Given the description of an element on the screen output the (x, y) to click on. 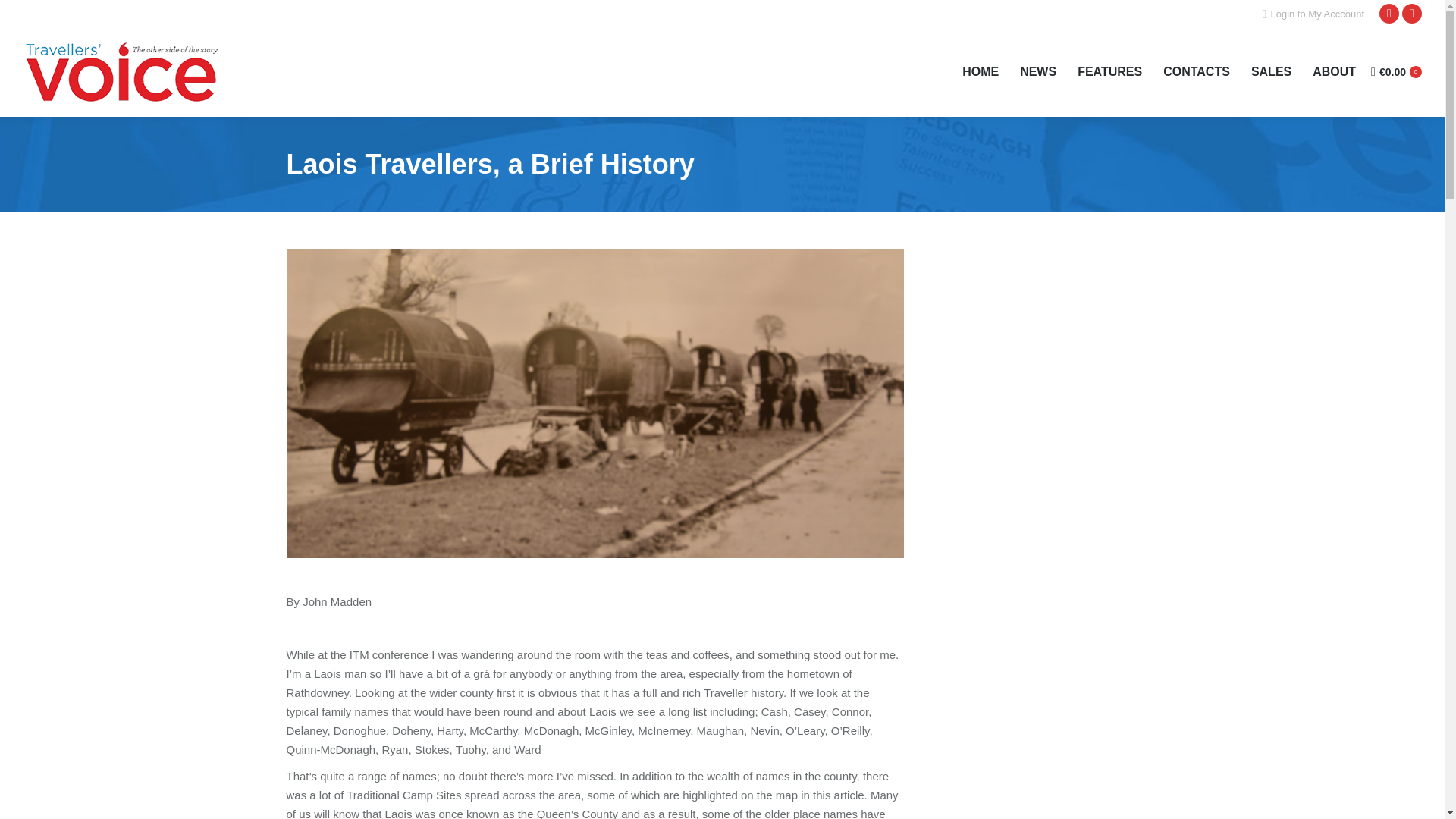
Facebook page opens in new window (1388, 13)
FEATURES (1109, 71)
Login to My Acccount (1313, 12)
Facebook page opens in new window (1388, 13)
Twitter page opens in new window (1412, 13)
CONTACTS (1196, 71)
Twitter page opens in new window (1412, 13)
